Given the description of an element on the screen output the (x, y) to click on. 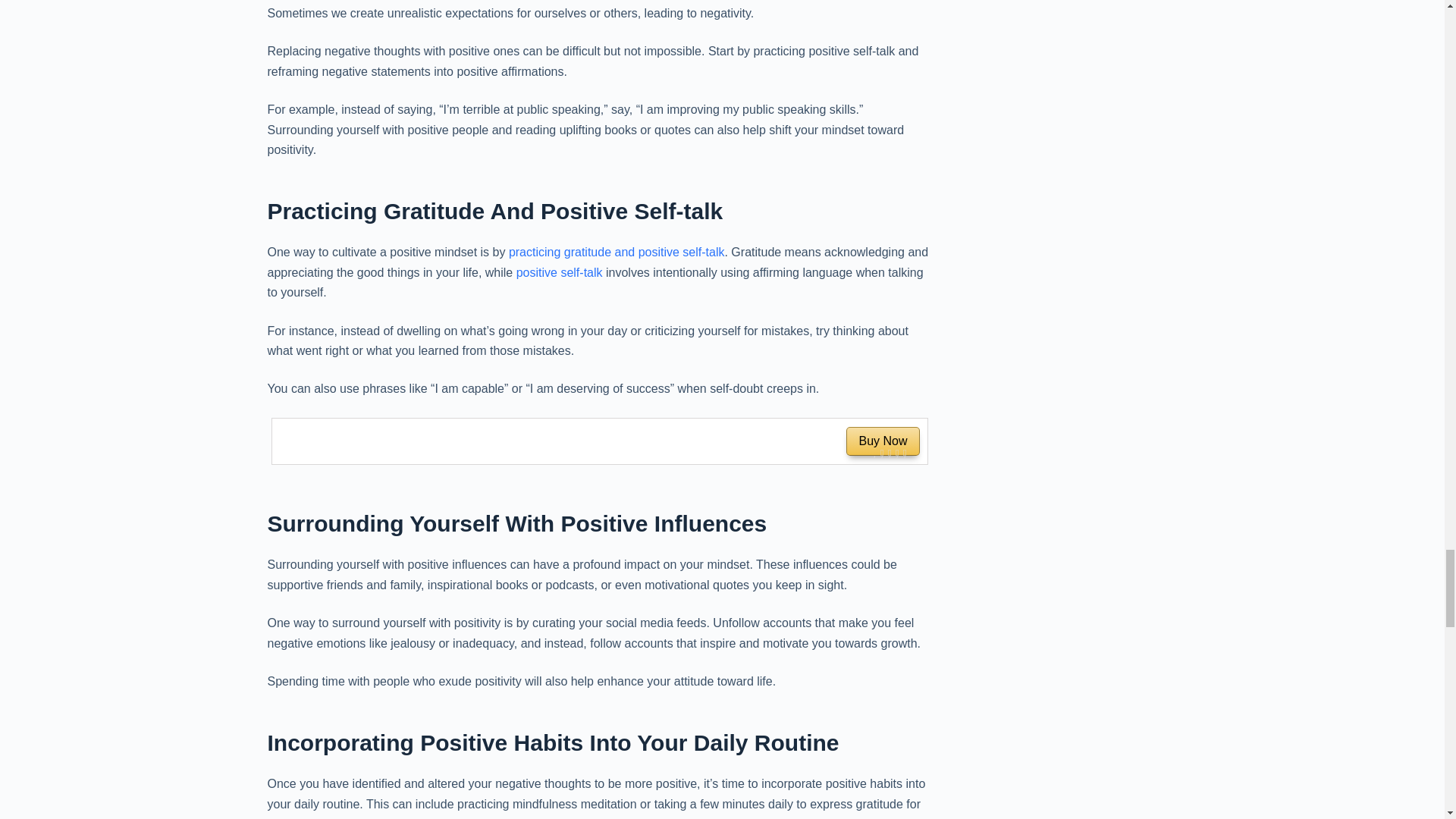
practicing gratitude and positive self-talk (599, 441)
positive self-talk (616, 251)
